Given the description of an element on the screen output the (x, y) to click on. 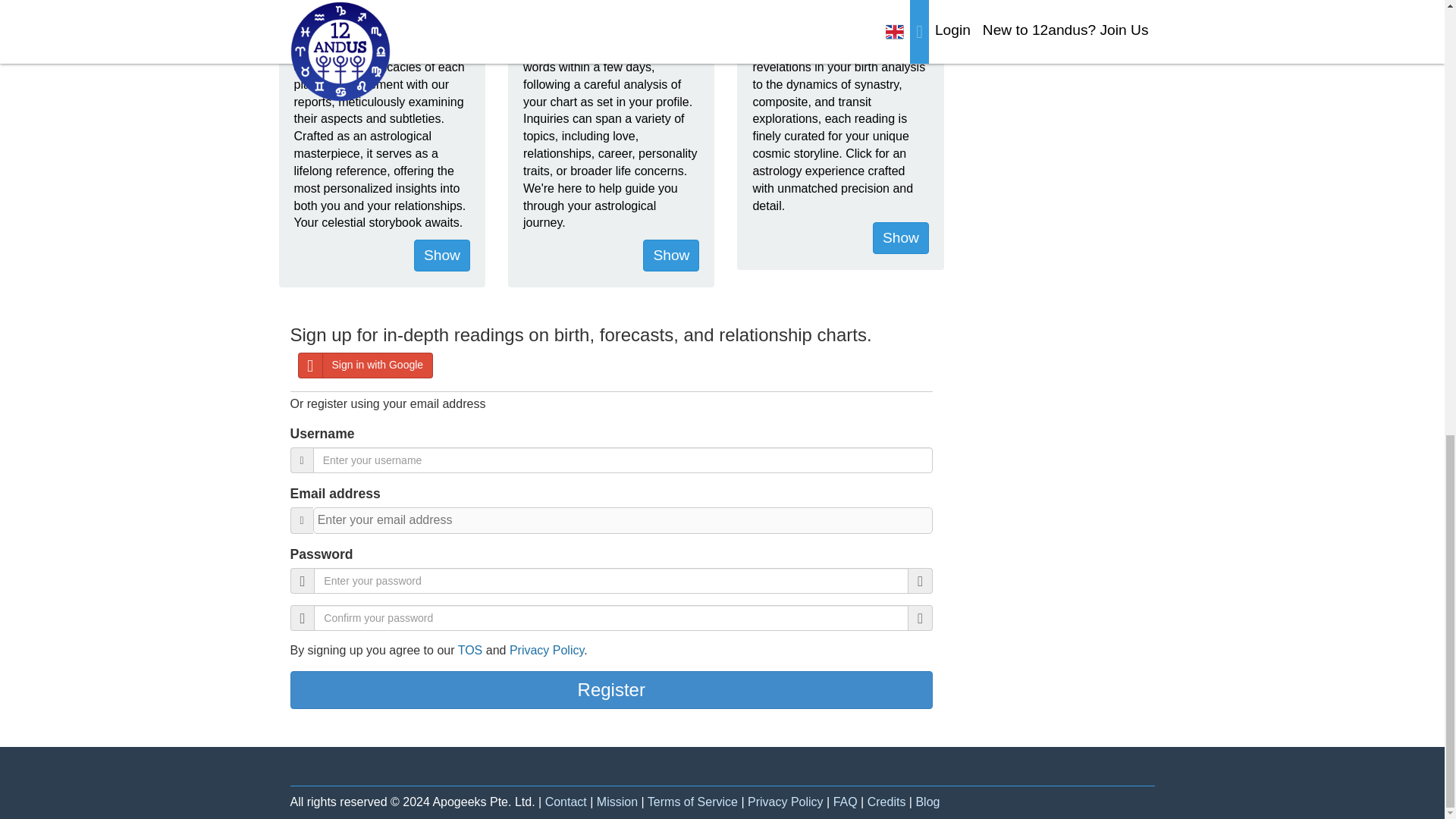
Register (611, 689)
